Given the description of an element on the screen output the (x, y) to click on. 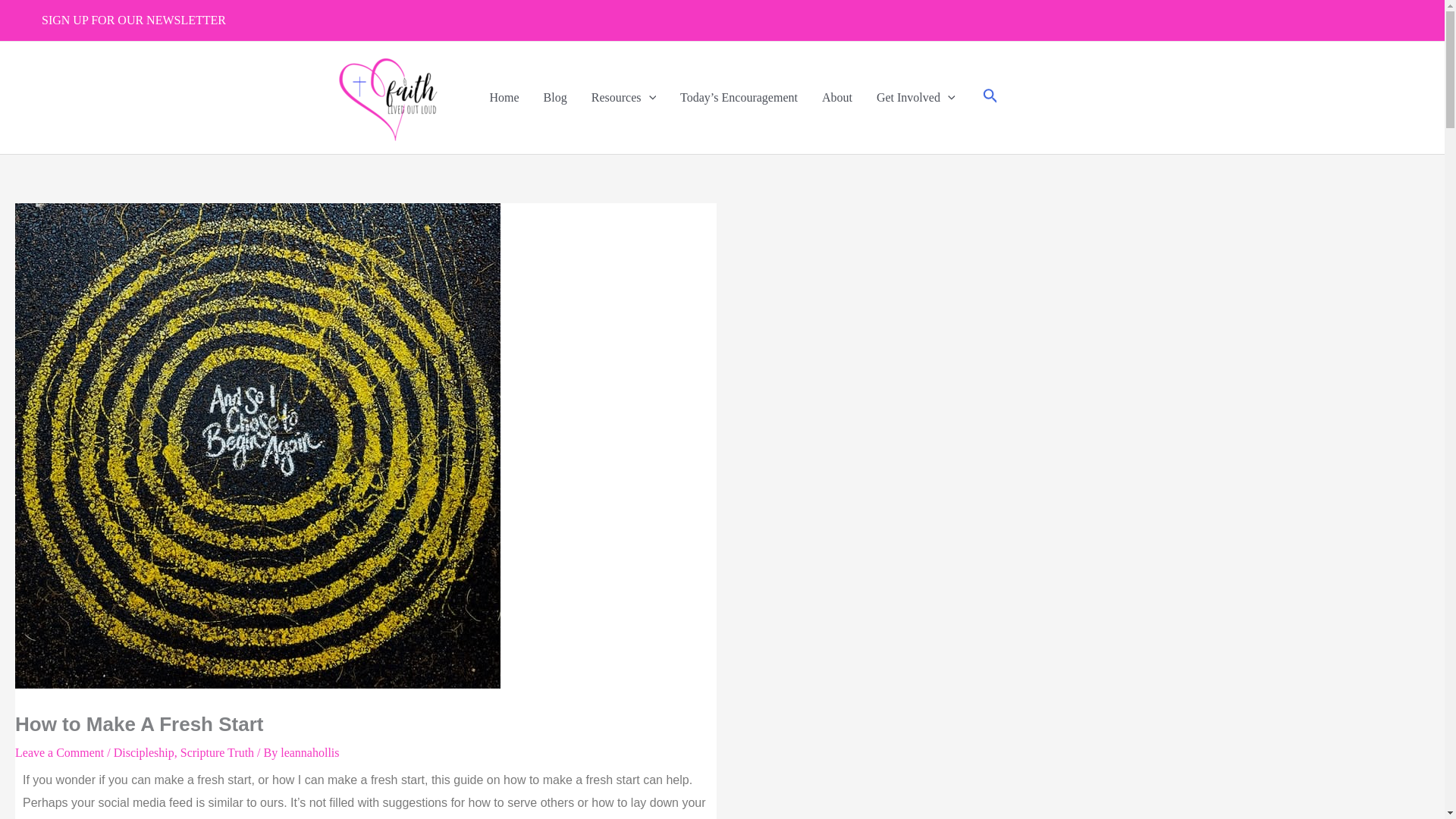
Resources (623, 97)
Home (504, 97)
Get Involved (916, 97)
SIGN UP FOR OUR NEWSLETTER (133, 20)
View all posts by leannahollis (310, 752)
About (836, 97)
Blog (555, 97)
